Given the description of an element on the screen output the (x, y) to click on. 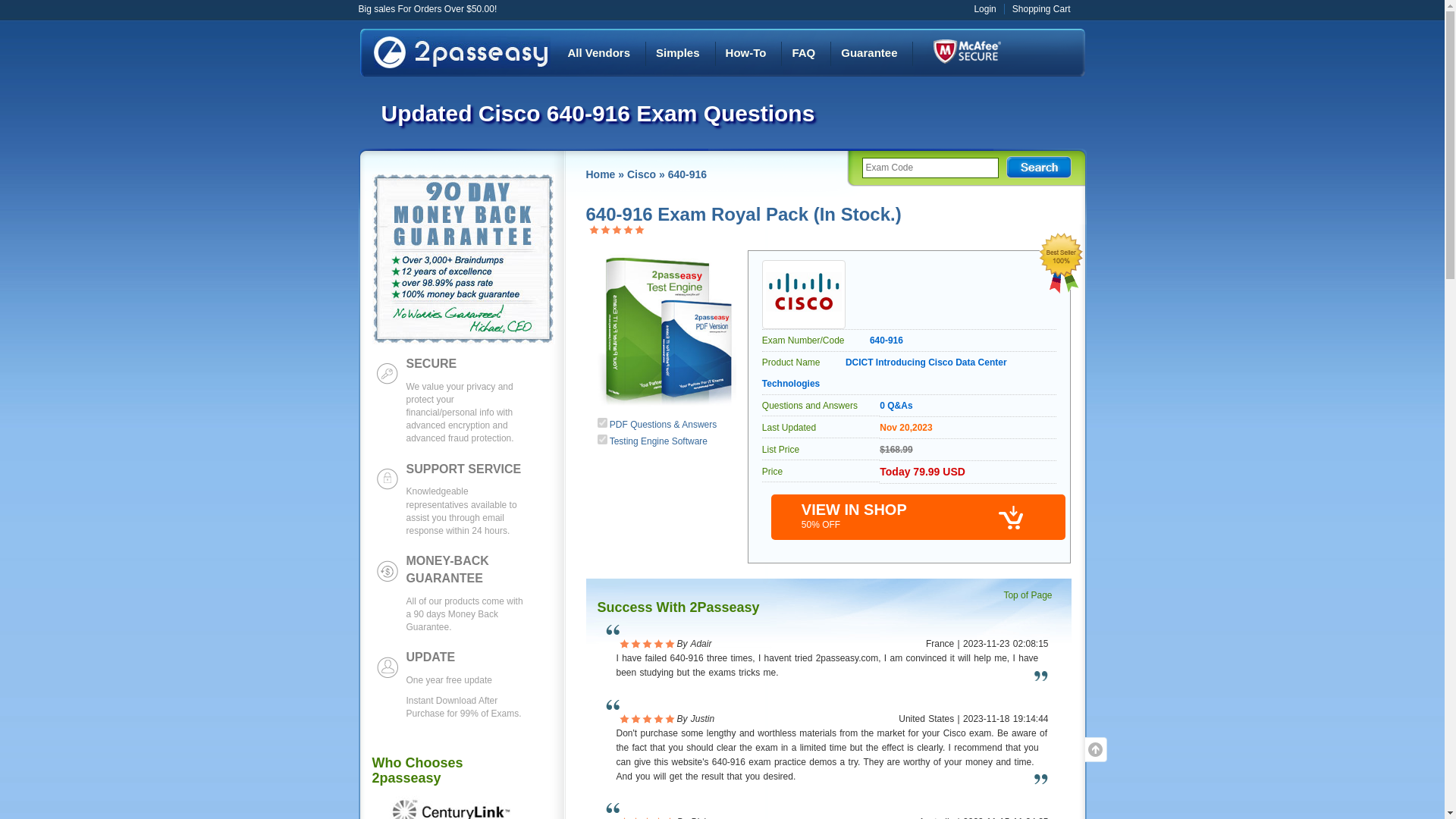
VIEW IN SHOP
50% OFF Element type: text (918, 516)
Testing Engine Software Element type: text (658, 441)
Top of Page Element type: text (1031, 594)
Home Element type: text (600, 174)
PDF Questions & Answers Element type: text (662, 424)
How-To Element type: text (745, 52)
FAQ Element type: text (803, 52)
All Vendors Element type: text (598, 52)
Simples Element type: text (677, 52)
Discount Element type: text (966, 51)
Cisco Element type: text (641, 174)
Login Element type: text (984, 8)
Guarantee Element type: text (868, 52)
Shopping Cart Element type: text (1041, 8)
Big sales For Orders Over $50.00! Element type: text (426, 8)
